Given the description of an element on the screen output the (x, y) to click on. 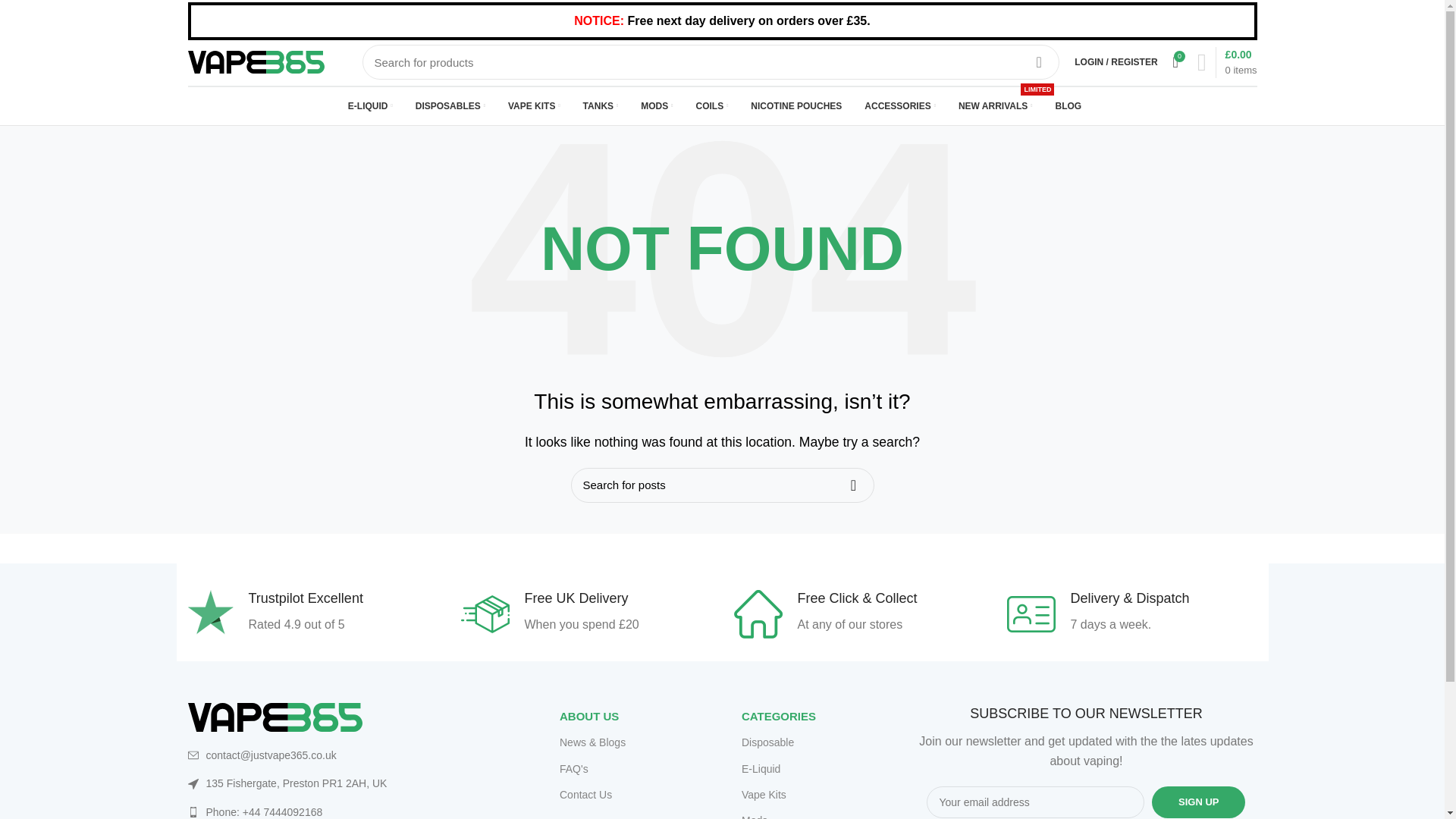
Search for products (710, 62)
Sign up (1197, 802)
E-LIQUID (370, 105)
Shopping cart (1227, 61)
My account (1115, 61)
SEARCH (1039, 62)
